Given the description of an element on the screen output the (x, y) to click on. 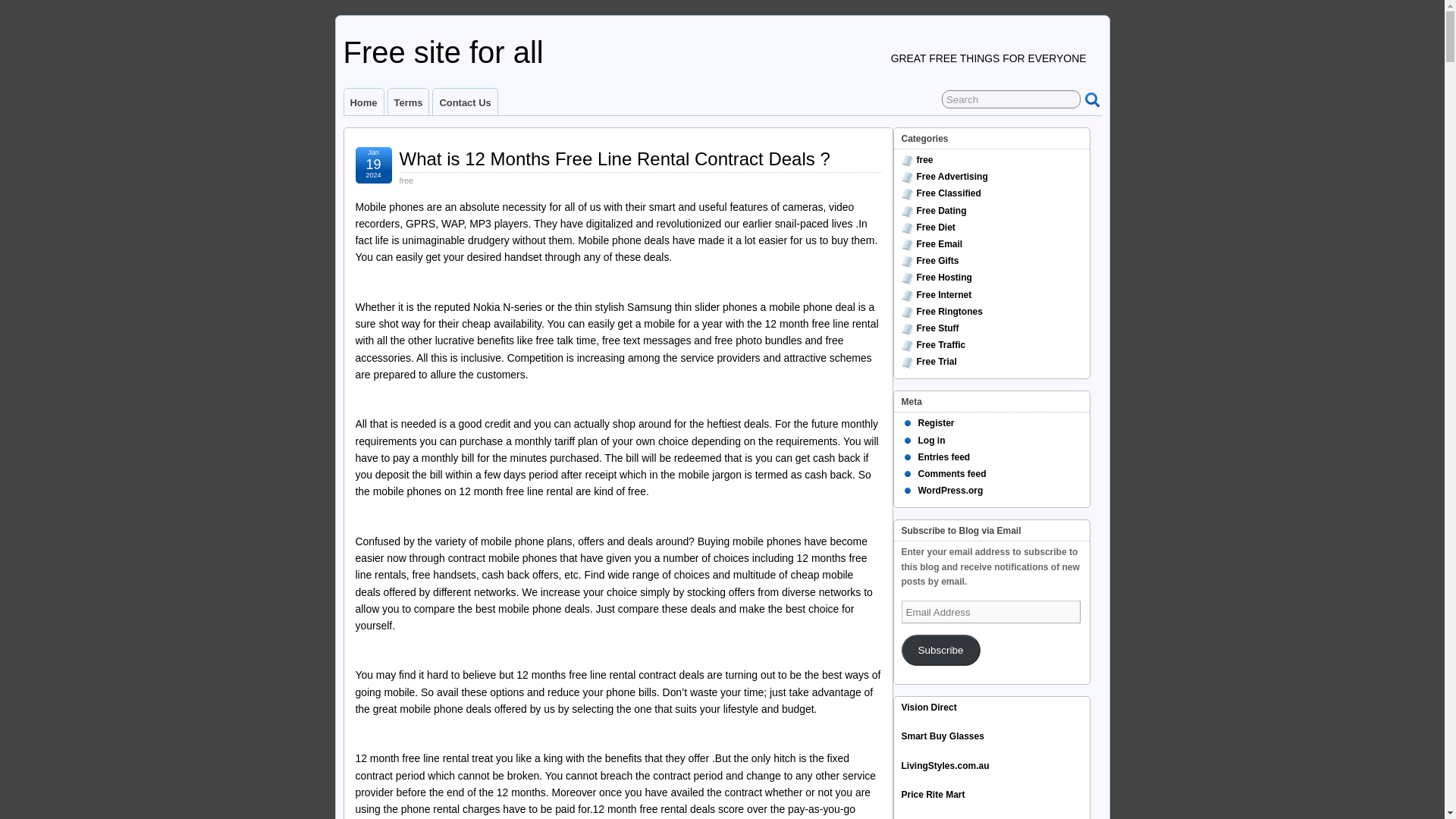
Contact Us (464, 101)
Terms (408, 101)
free (405, 180)
Home (363, 101)
Log in (930, 439)
Free Trial (935, 361)
Smart Buy Glasses (942, 736)
Free Dating (940, 210)
LivingStyles.com.au (944, 765)
Free Advertising (951, 176)
What is 12 Months Free Line Rental Contract Deals ? (613, 158)
What is 12 Months Free Line Rental Contract Deals ? (613, 158)
Free Classified (947, 193)
Free Stuff (936, 327)
Free Email (938, 244)
